Given the description of an element on the screen output the (x, y) to click on. 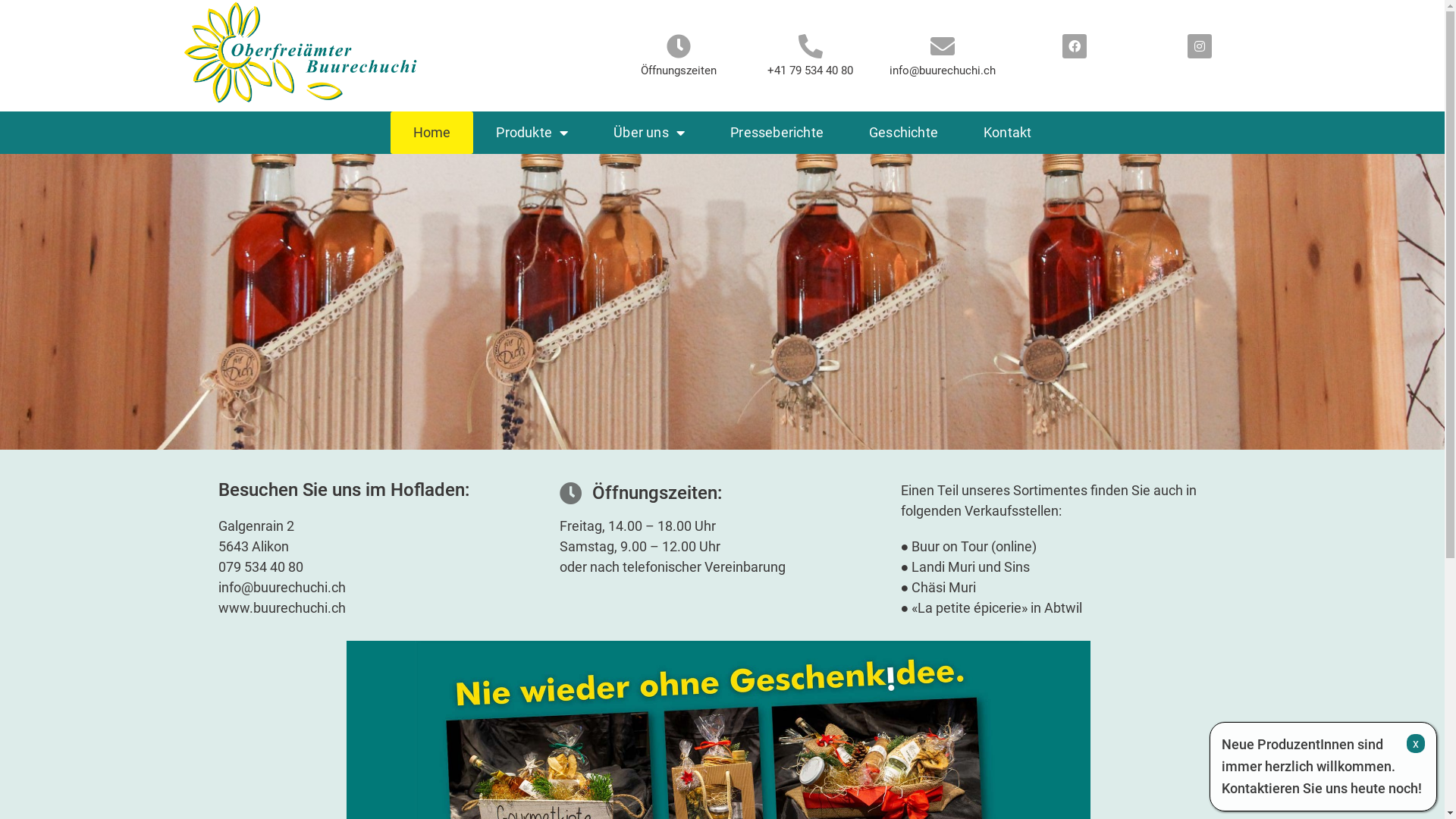
Home Element type: text (431, 132)
info@buurechuchi.ch Element type: text (941, 70)
+41 79 534 40 80 Element type: text (810, 70)
Facebook Element type: text (1073, 46)
Instagram Element type: text (1199, 46)
x Element type: text (1415, 743)
Produkte Element type: text (531, 132)
Kontakt Element type: text (1007, 132)
Geschichte Element type: text (903, 132)
Presseberichte Element type: text (776, 132)
